Given the description of an element on the screen output the (x, y) to click on. 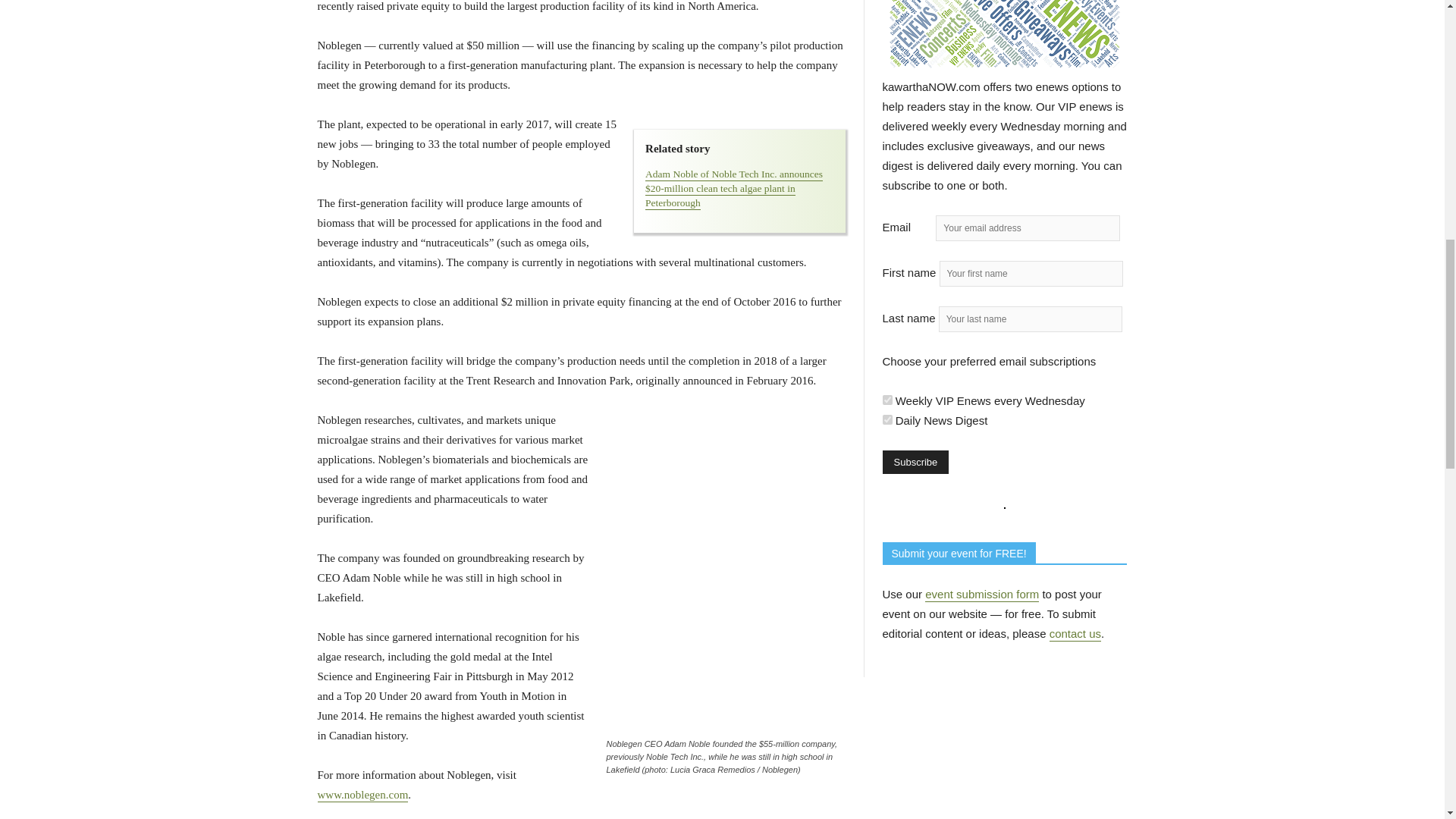
324c67885b (887, 419)
db73b12d6e (887, 399)
Subscribe (915, 462)
